Given the description of an element on the screen output the (x, y) to click on. 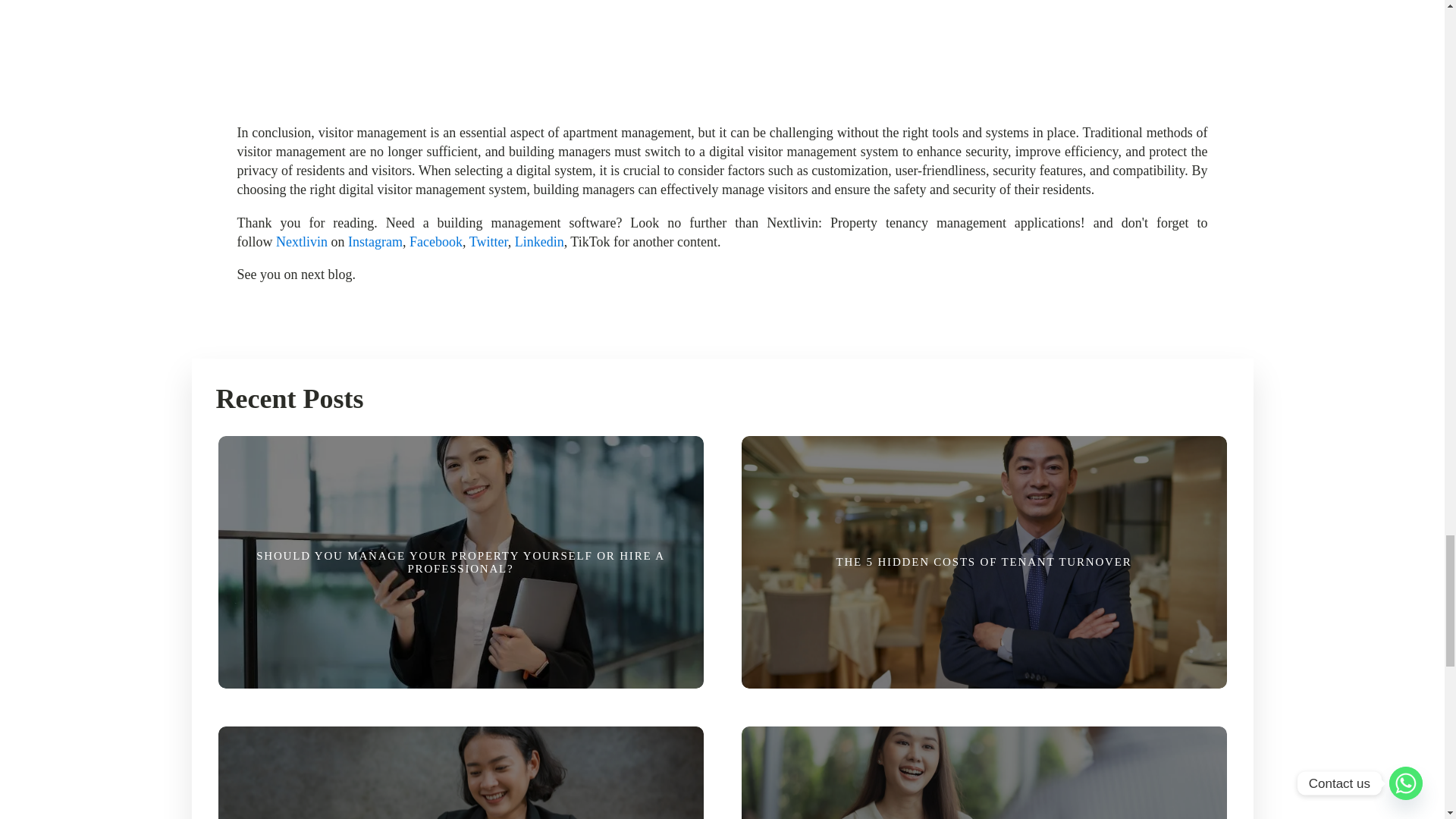
Twitter (488, 241)
Nextlivin (301, 241)
Linkedin (539, 241)
Facebook (436, 241)
Instagram (375, 241)
7 STEPS IN NEGOTIATING WITH VENDORS IN PROPERTY MANAGEMENT (983, 766)
